Given the description of an element on the screen output the (x, y) to click on. 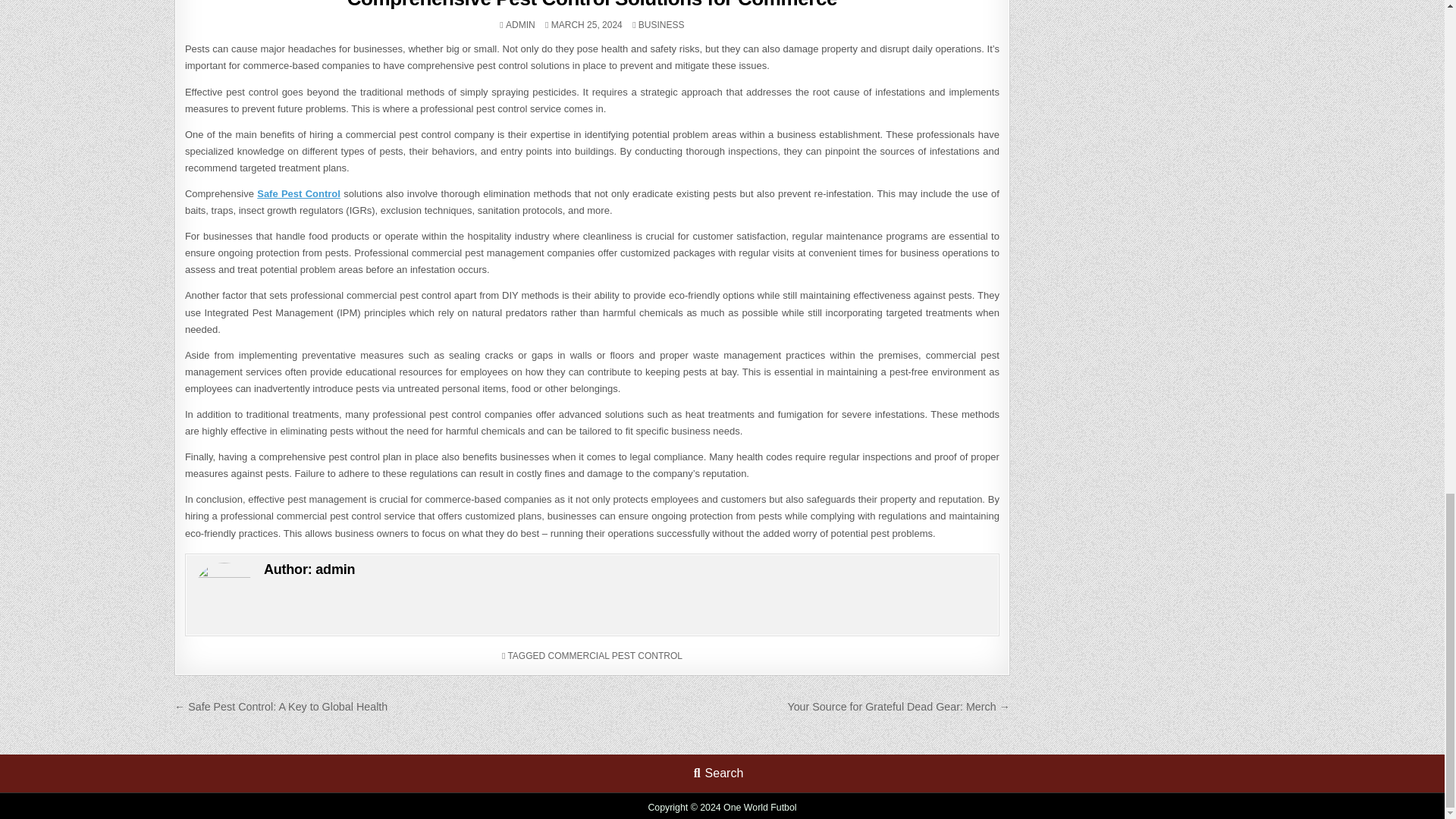
admin (335, 569)
Search (718, 772)
ADMIN (520, 24)
BUSINESS (661, 24)
COMMERCIAL PEST CONTROL (615, 655)
Comprehensive Pest Control Solutions for Commerce (592, 4)
Safe Pest Control (298, 193)
